Given the description of an element on the screen output the (x, y) to click on. 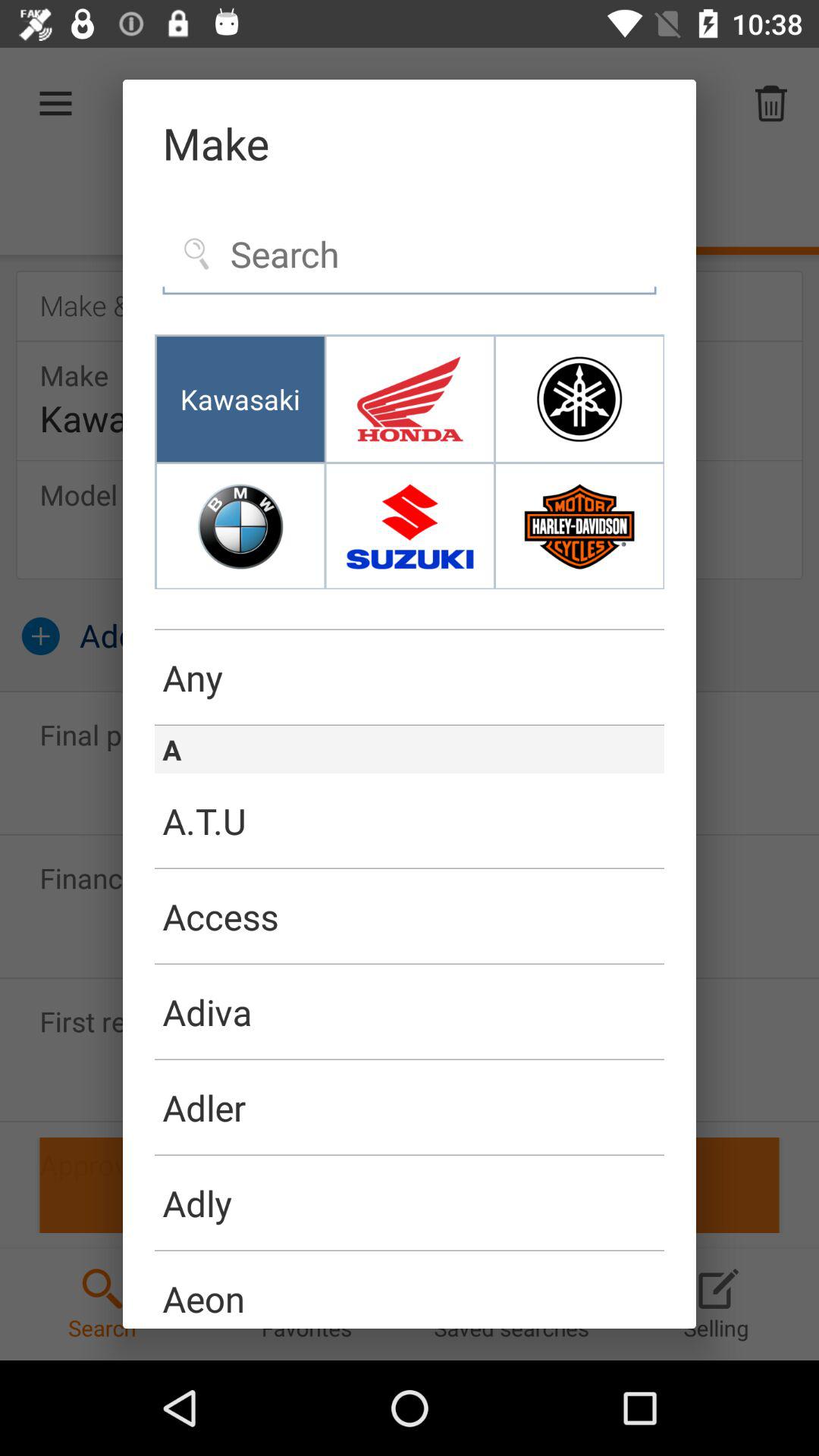
select the adler icon (409, 1107)
